Given the description of an element on the screen output the (x, y) to click on. 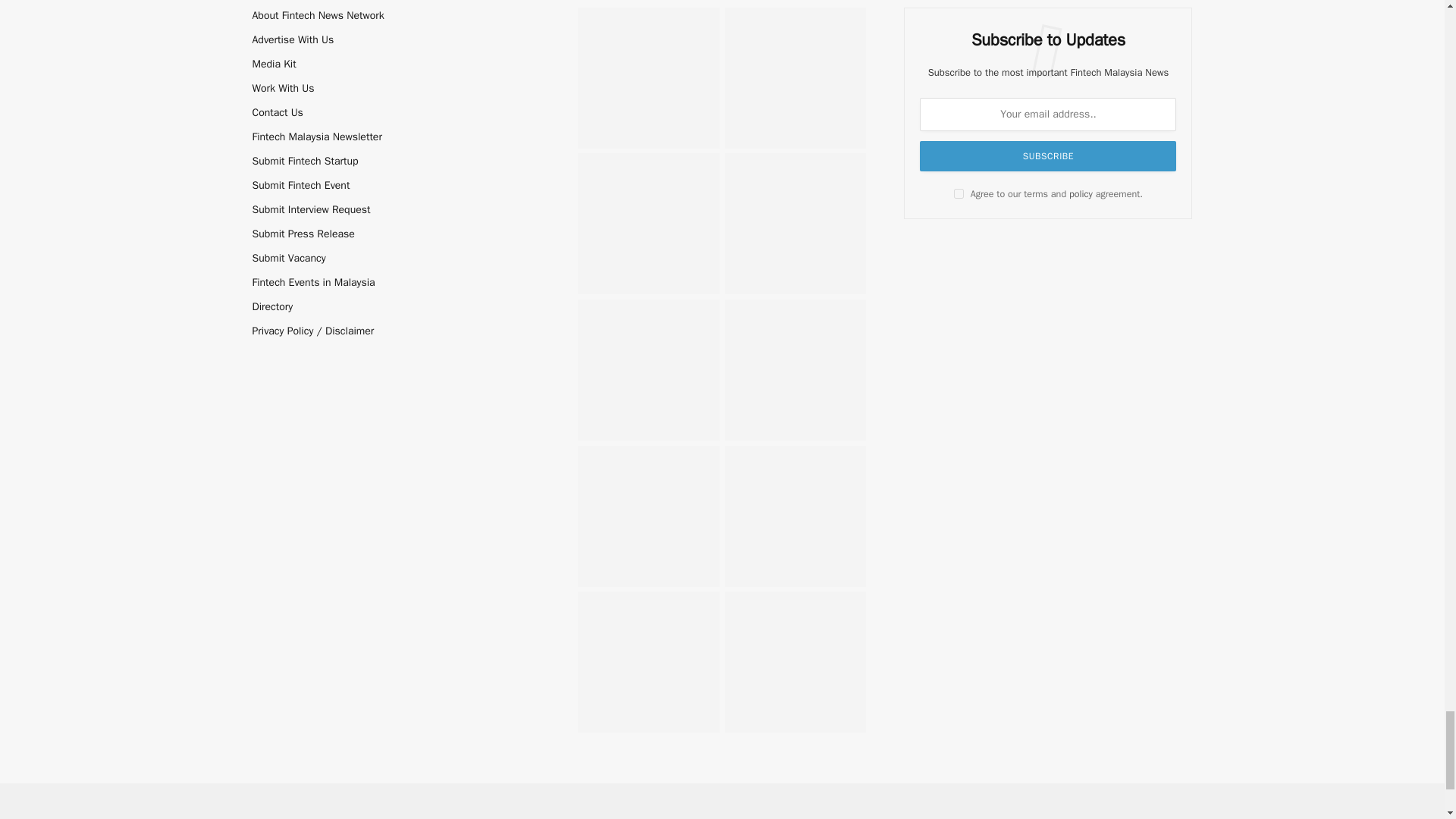
on (958, 194)
Subscribe (1048, 155)
